Given the description of an element on the screen output the (x, y) to click on. 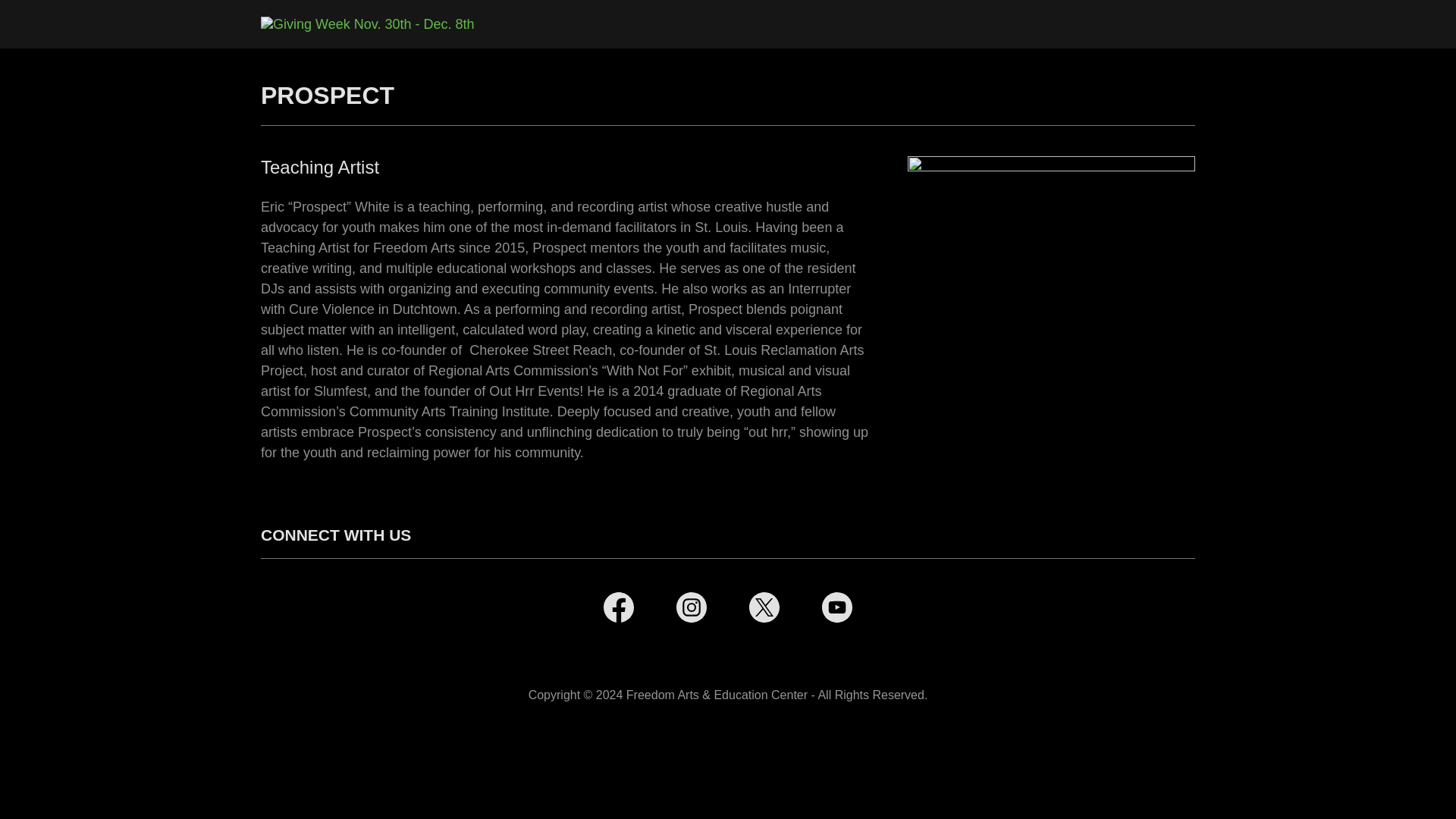
Giving Week Nov. 30th - Dec. 8th (367, 23)
